Given the description of an element on the screen output the (x, y) to click on. 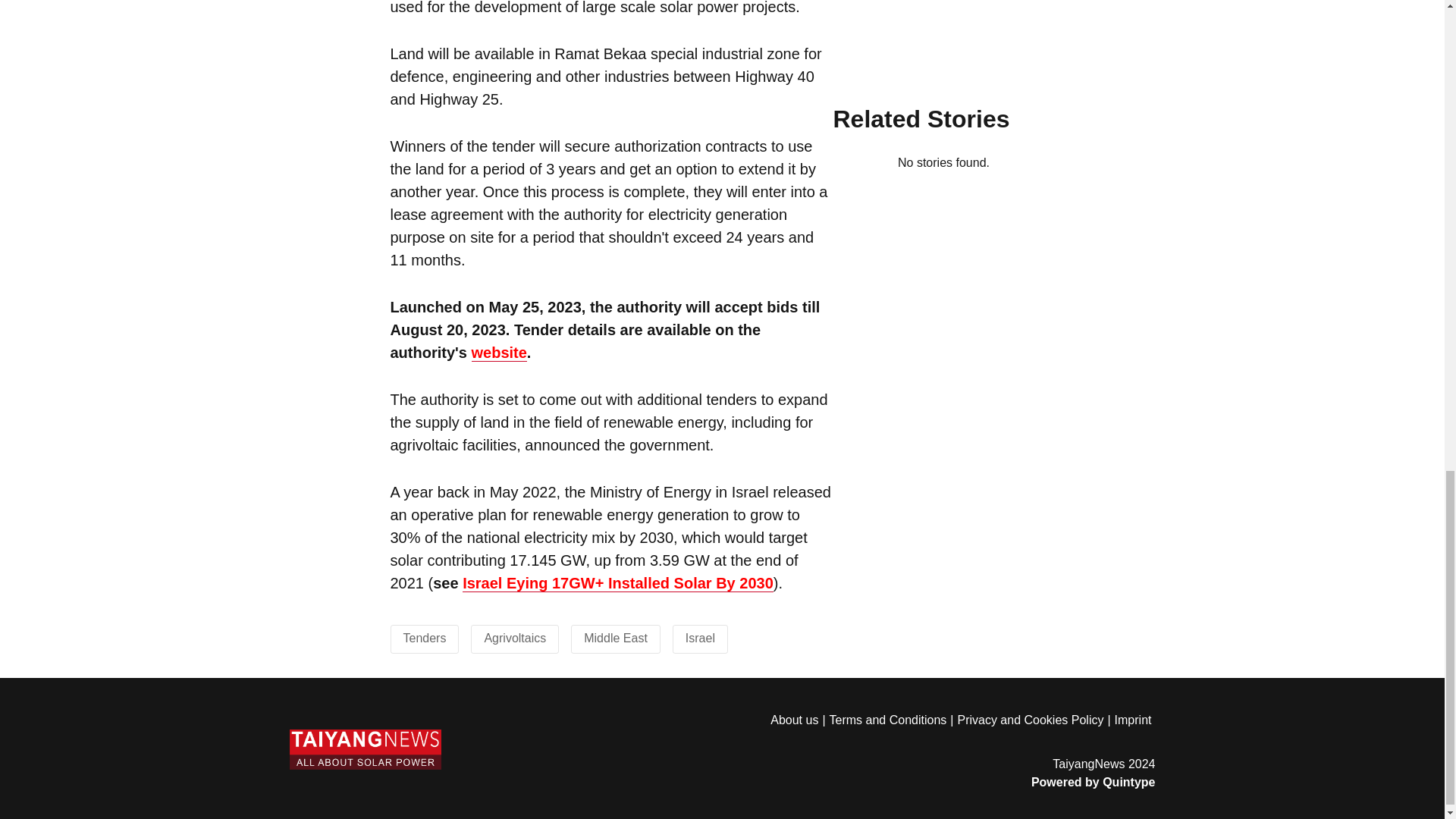
website (499, 352)
Israel (699, 637)
Middle East (615, 637)
Tenders (424, 637)
About us (799, 719)
Privacy and Cookies Policy (1034, 719)
Powered by Quintype (962, 782)
Terms and Conditions (893, 719)
Imprint (1135, 719)
Agrivoltaics (514, 637)
